Given the description of an element on the screen output the (x, y) to click on. 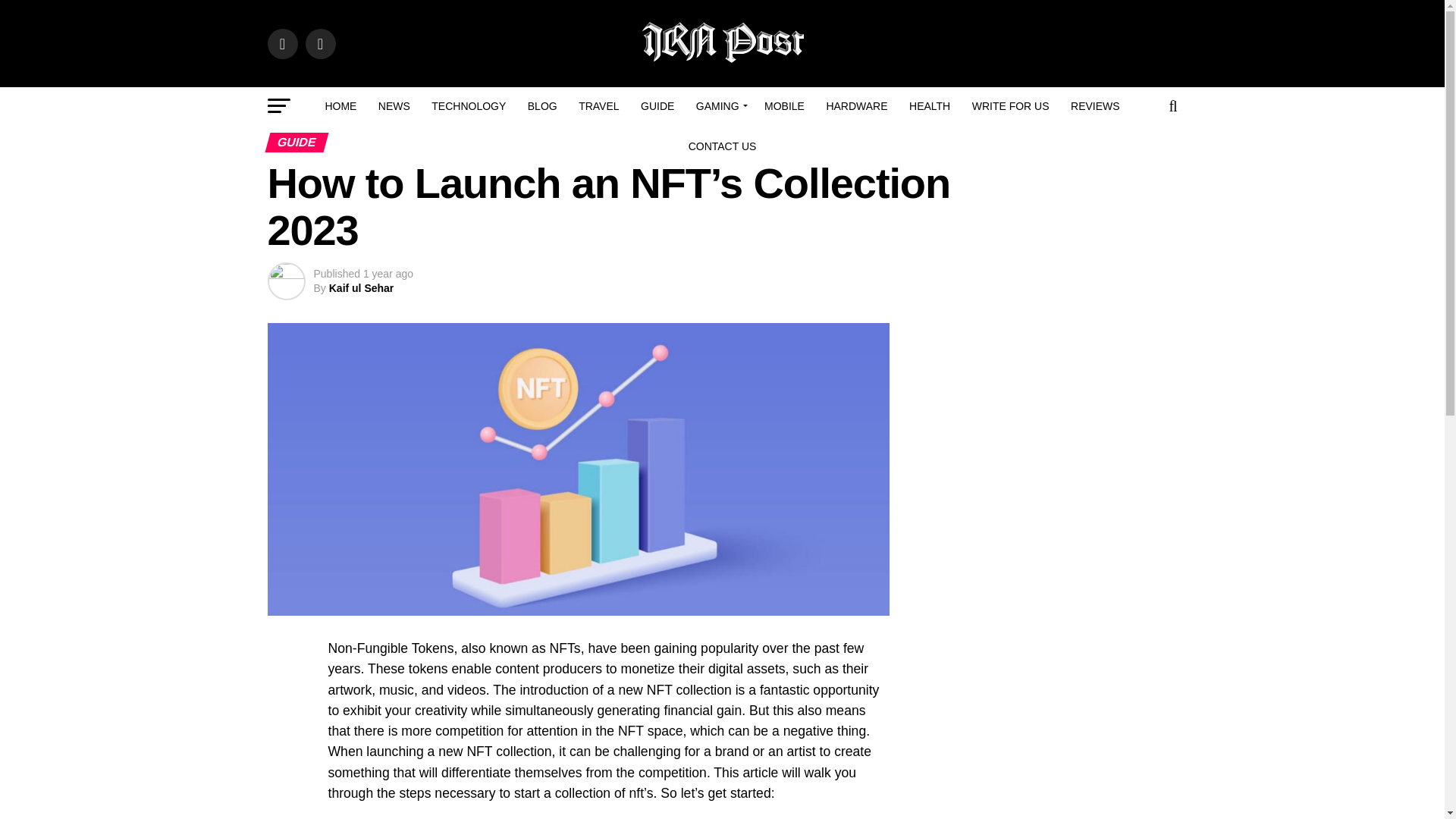
BLOG (542, 105)
TECHNOLOGY (468, 105)
GAMING (719, 105)
HOME (340, 105)
Posts by Kaif ul Sehar (361, 287)
NEWS (394, 105)
TRAVEL (598, 105)
GUIDE (656, 105)
